Given the description of an element on the screen output the (x, y) to click on. 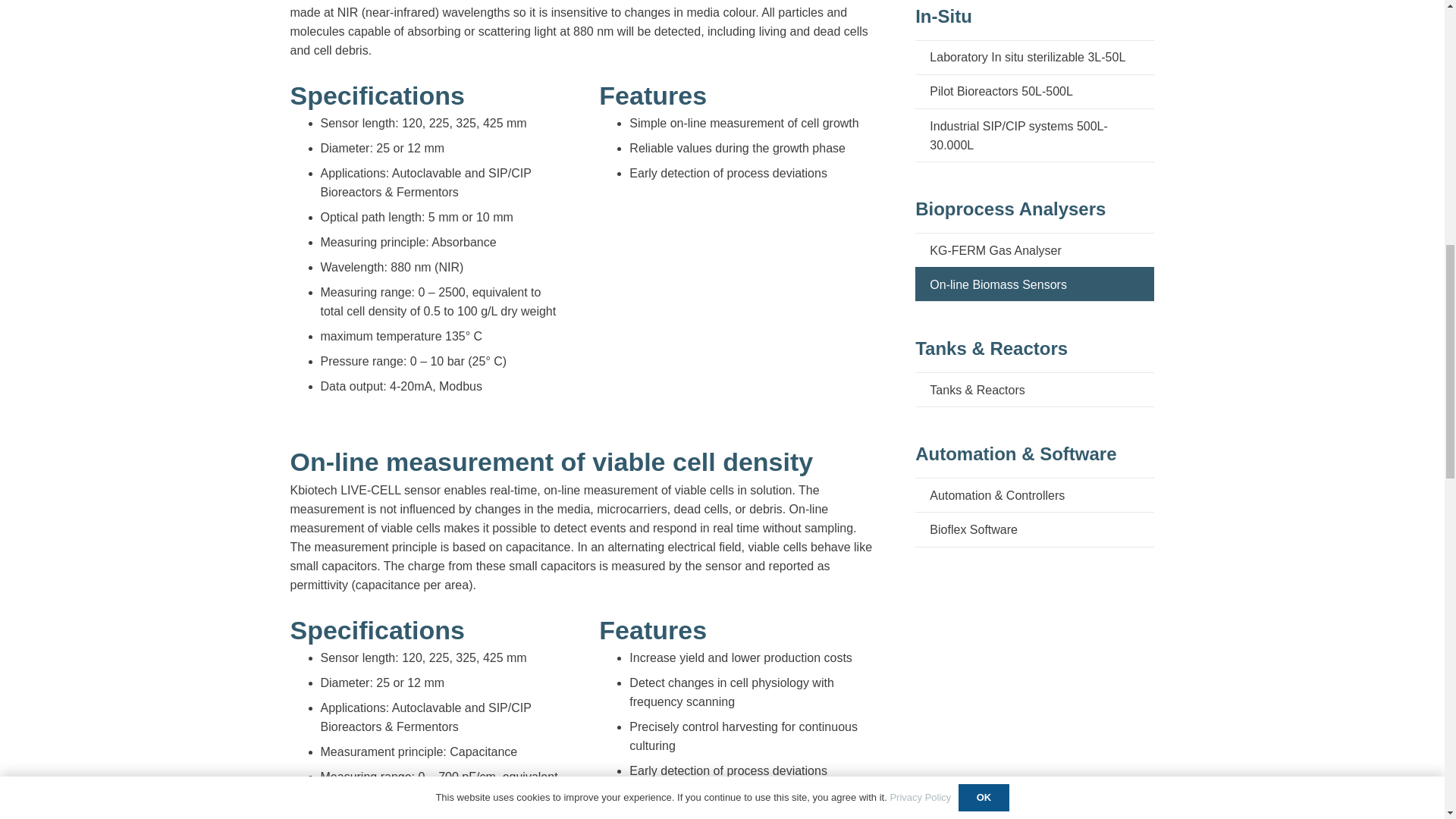
Back to top (30, 30)
